Given the description of an element on the screen output the (x, y) to click on. 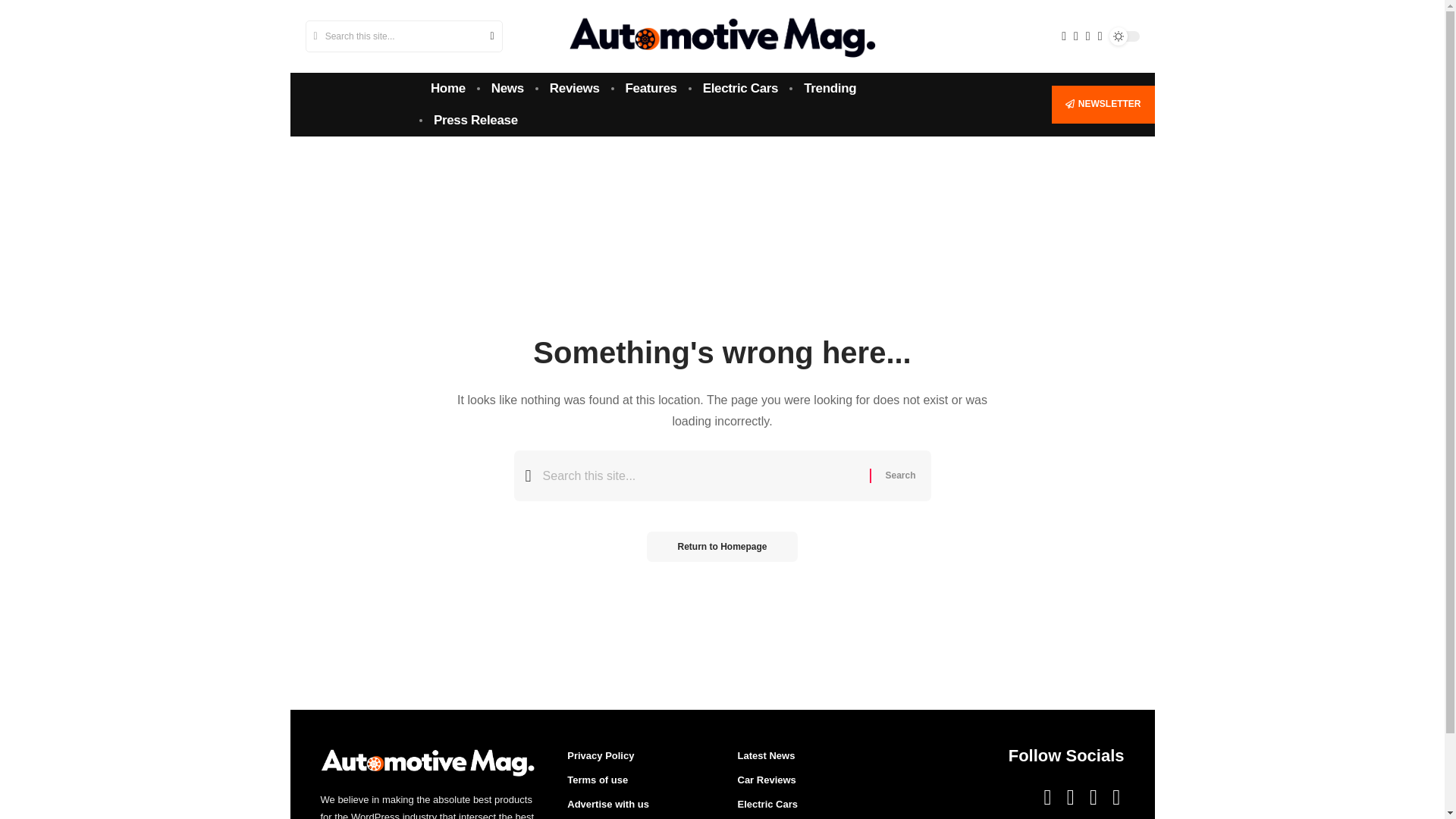
Electric Cars (740, 88)
Terms of use (636, 780)
News (507, 88)
Return to Homepage (721, 546)
Home (448, 88)
Reviews (574, 88)
Trending (829, 88)
Features (651, 88)
Search (899, 475)
Search (485, 36)
NEWSLETTER (1102, 104)
Press Release (475, 120)
Privacy Policy (636, 757)
Search (899, 475)
